Given the description of an element on the screen output the (x, y) to click on. 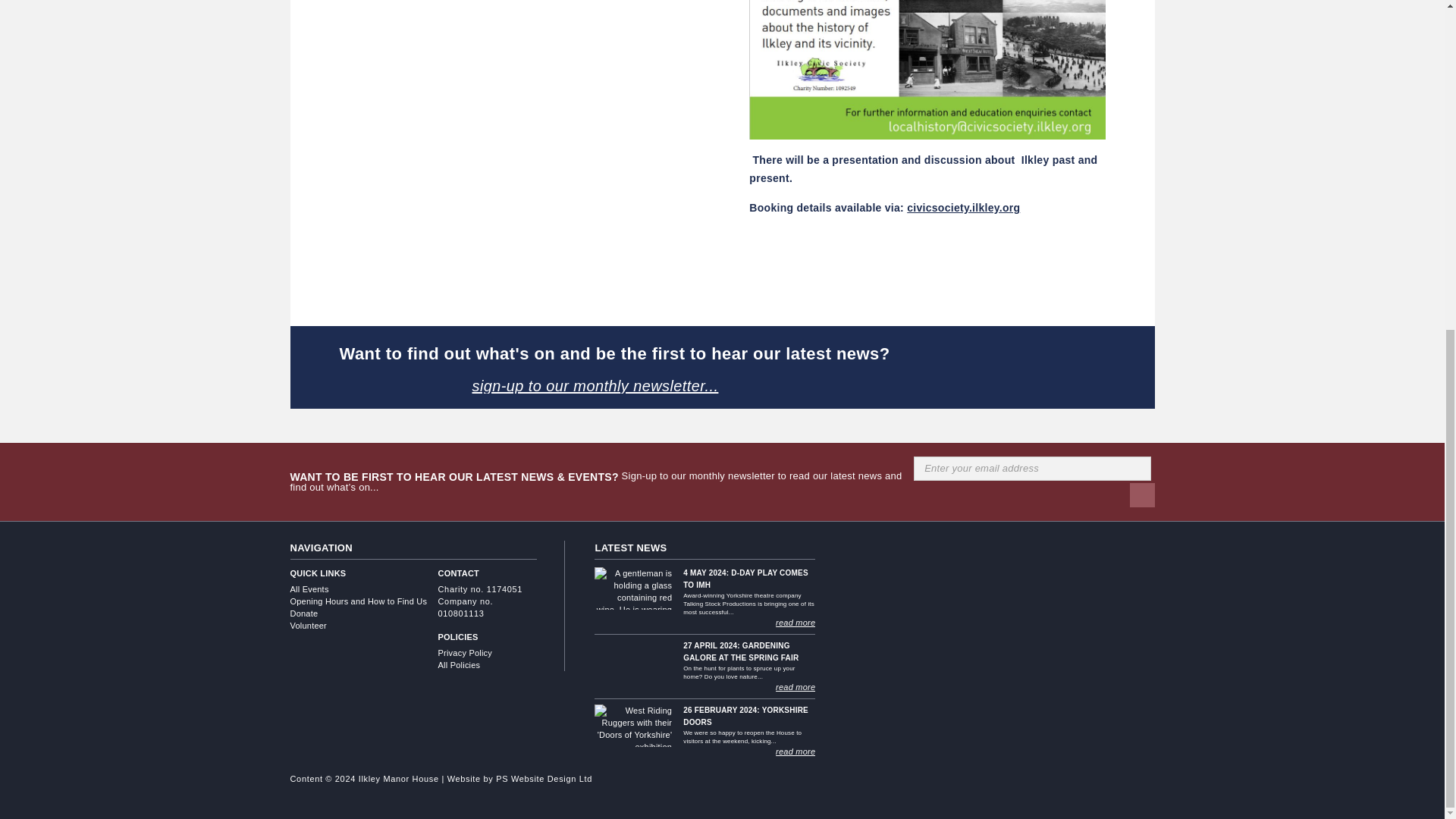
civicsociety.ilkley.org (963, 207)
All Events (363, 589)
QUICK LINKS (363, 573)
Send (1141, 494)
Opening Hours and How to Find Us (363, 601)
Send (1141, 494)
